Given the description of an element on the screen output the (x, y) to click on. 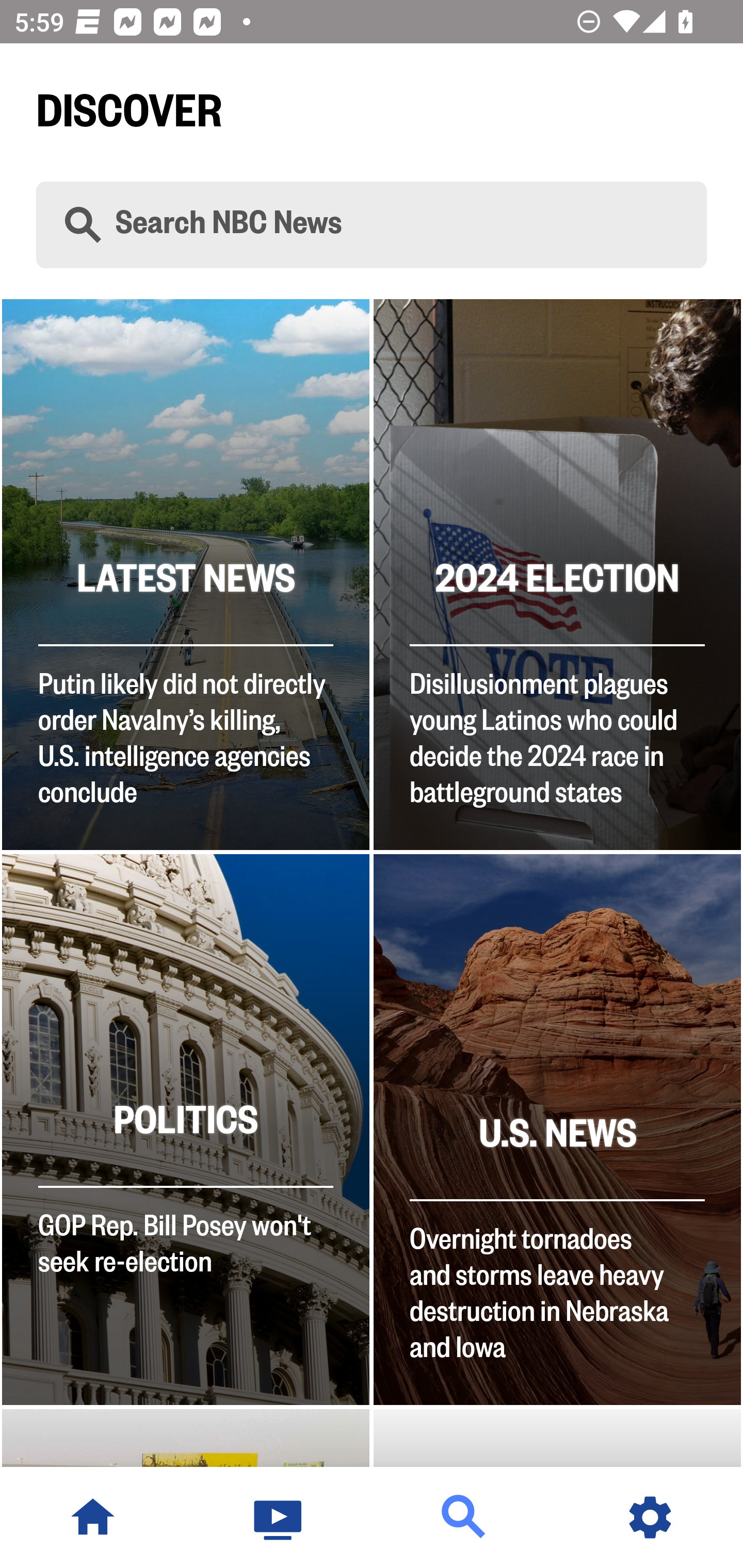
NBC News Home (92, 1517)
Watch (278, 1517)
Settings (650, 1517)
